Given the description of an element on the screen output the (x, y) to click on. 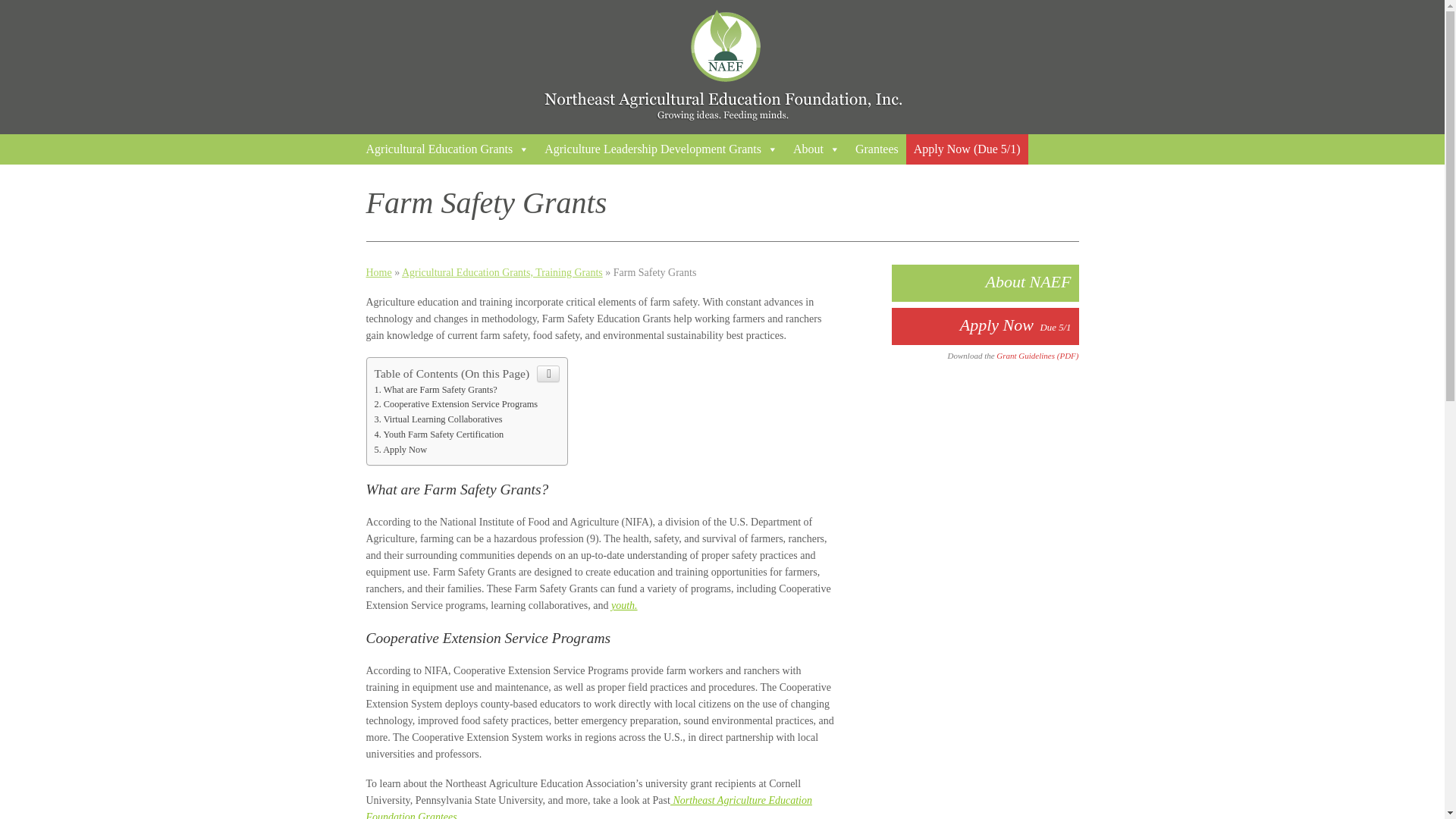
Northeast Agriculture Education Foundation Grantees (587, 806)
Virtual Learning Collaboratives (438, 419)
Youth Farm Safety Certification (438, 434)
youth. (624, 604)
What are Farm Safety Grants? (435, 389)
Virtual Learning Collaboratives (438, 419)
Cooperative Extension Service Programs (456, 403)
About NAEF (984, 283)
Youth Farm Safety Certification (438, 434)
What are Farm Safety Grants? (435, 389)
Grantees (876, 149)
Apply Now (401, 449)
About (816, 149)
Cooperative Extension Service Programs (456, 403)
Agriculture Leadership Development Grants (661, 149)
